Given the description of an element on the screen output the (x, y) to click on. 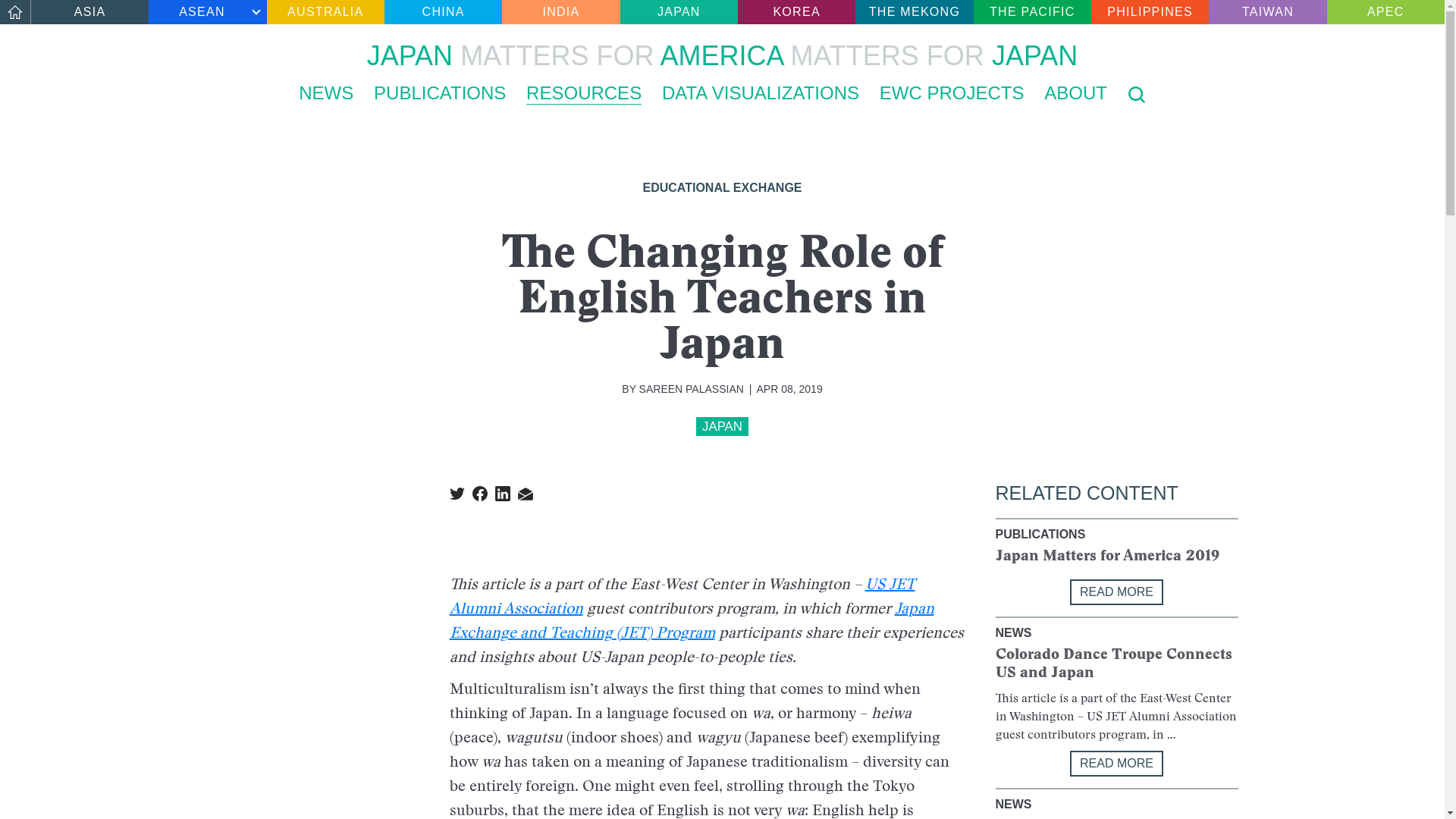
DATA VISUALIZATIONS (760, 93)
READ MORE (1116, 592)
THE PACIFIC (1032, 12)
Share via LinkedIn (502, 493)
AUSTRALIA (325, 12)
ASIA (89, 12)
THE MEKONG (914, 12)
TAIWAN (1267, 12)
PUBLICATIONS (439, 93)
JAPAN (721, 425)
KOREA (797, 12)
JAPAN (679, 12)
READ MORE (1116, 763)
Share on Facebook (478, 493)
Share on Twitter (456, 493)
